Given the description of an element on the screen output the (x, y) to click on. 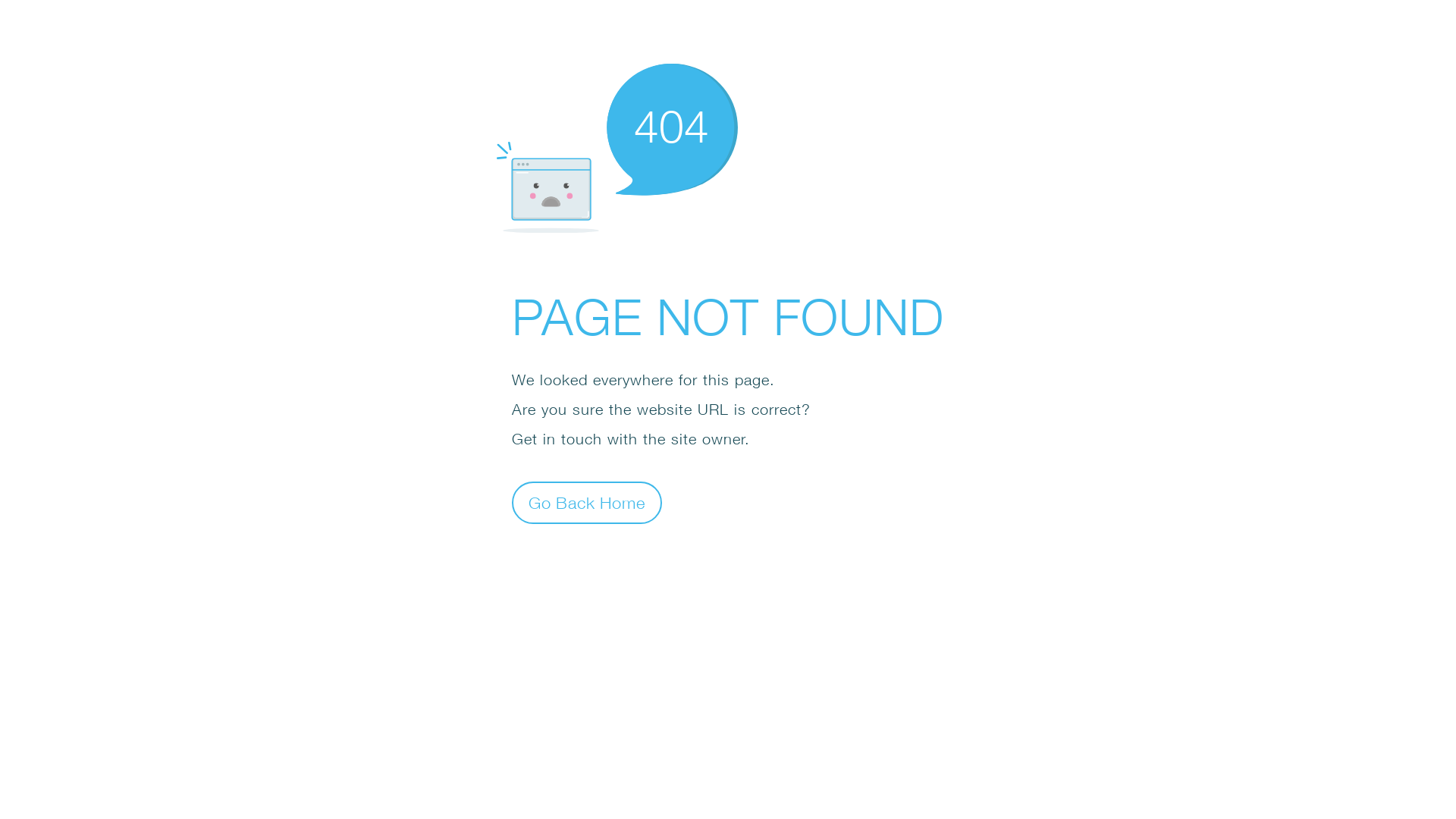
Go Back Home Element type: text (586, 502)
